Given the description of an element on the screen output the (x, y) to click on. 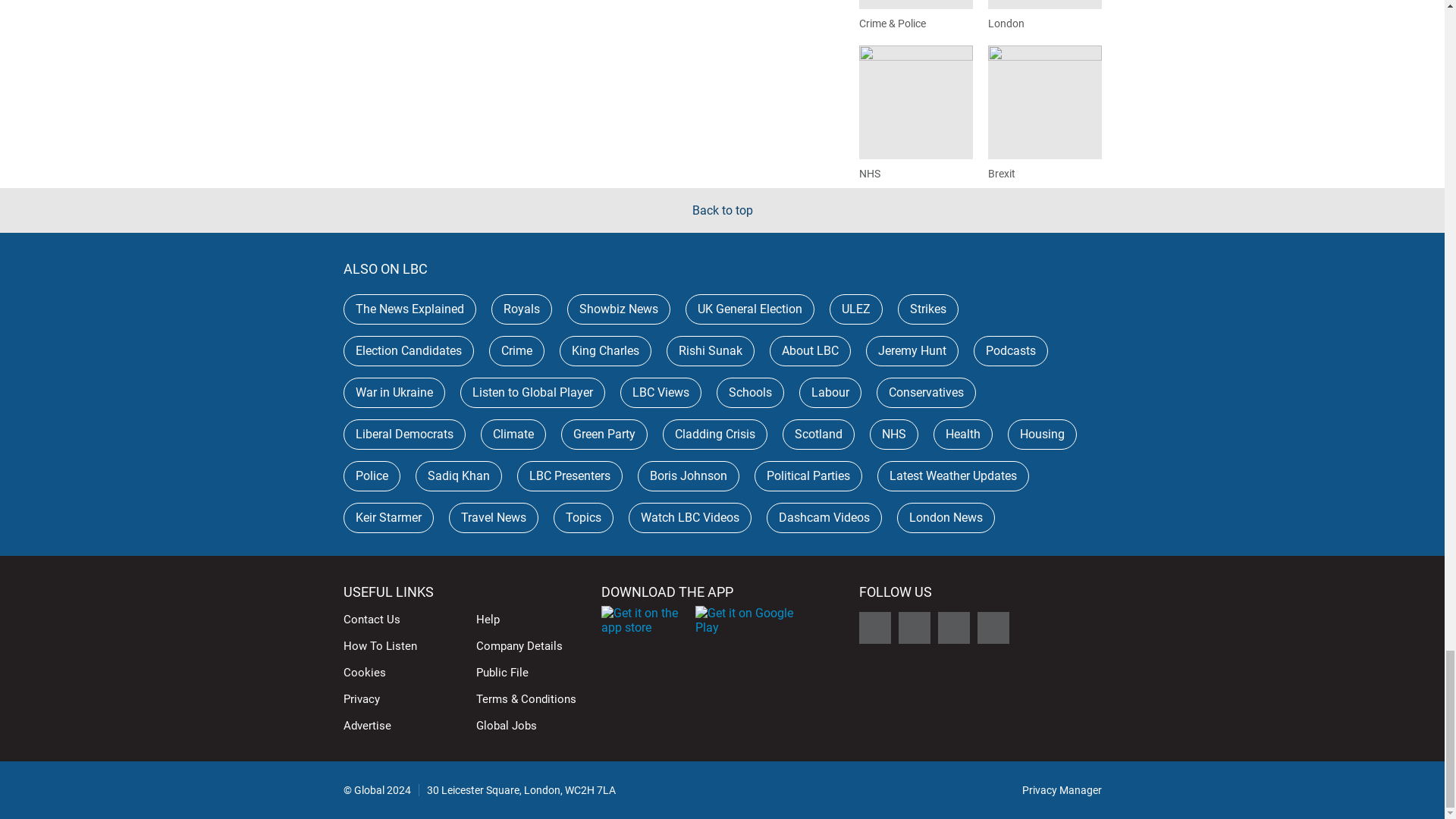
Follow LBC on Youtube (992, 627)
Follow LBC on Facebook (914, 627)
Back to top (721, 210)
Follow LBC on X (874, 627)
Follow LBC on Instagram (953, 627)
